Given the description of an element on the screen output the (x, y) to click on. 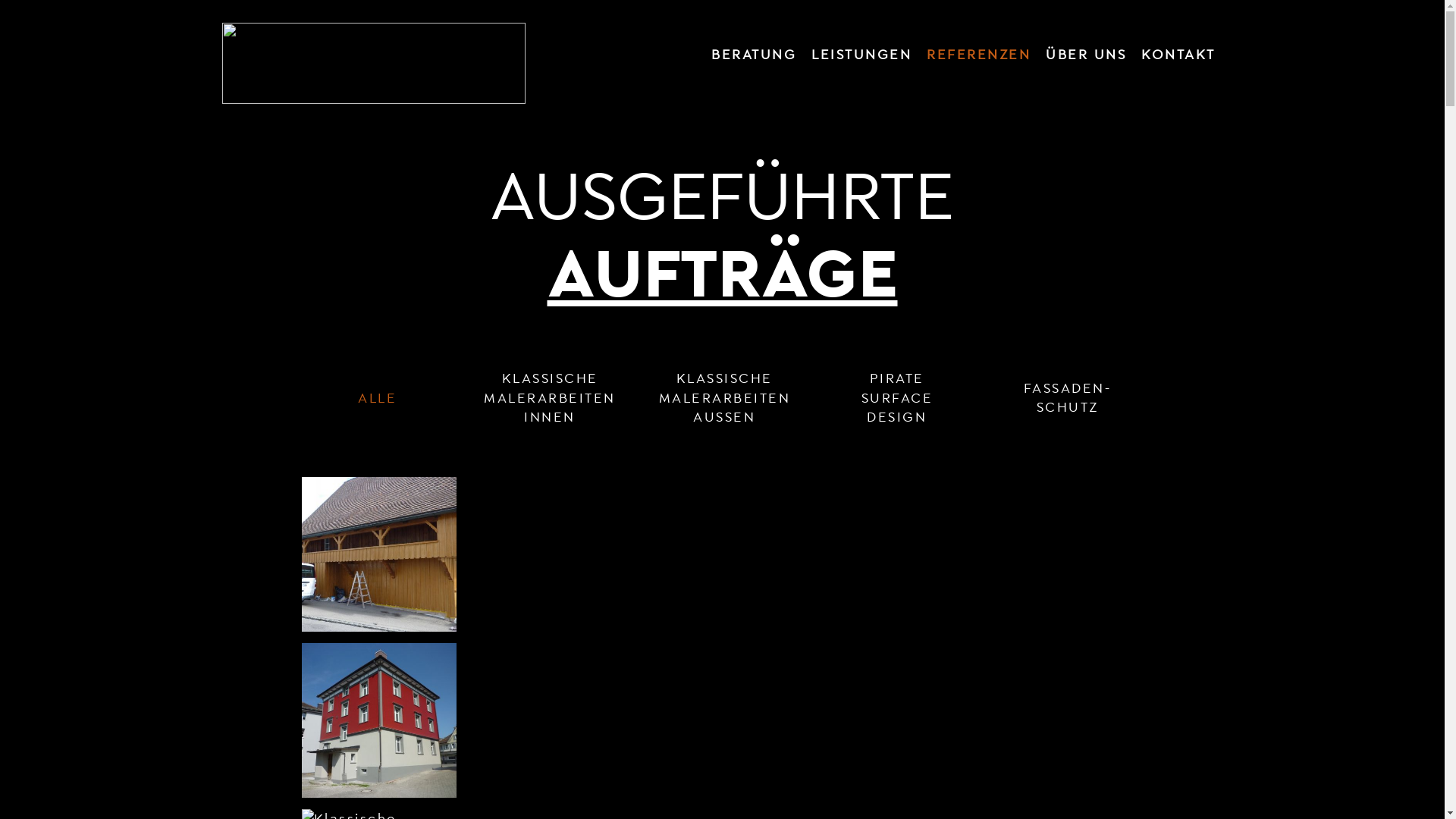
KLASSISCHE
MALERARBEITEN AUSSEN Element type: text (723, 397)
ALLE Element type: text (377, 397)
KONTAKT Element type: text (1178, 57)
BERATUNG Element type: text (753, 57)
REFERENZEN Element type: text (978, 57)
FASSADEN-
SCHUTZ Element type: text (1067, 397)
LEISTUNGEN Element type: text (861, 57)
KLASSISCHE
MALERARBEITEN INNEN Element type: text (549, 397)
PIRATE
SURFACE DESIGN Element type: text (896, 397)
